Given the description of an element on the screen output the (x, y) to click on. 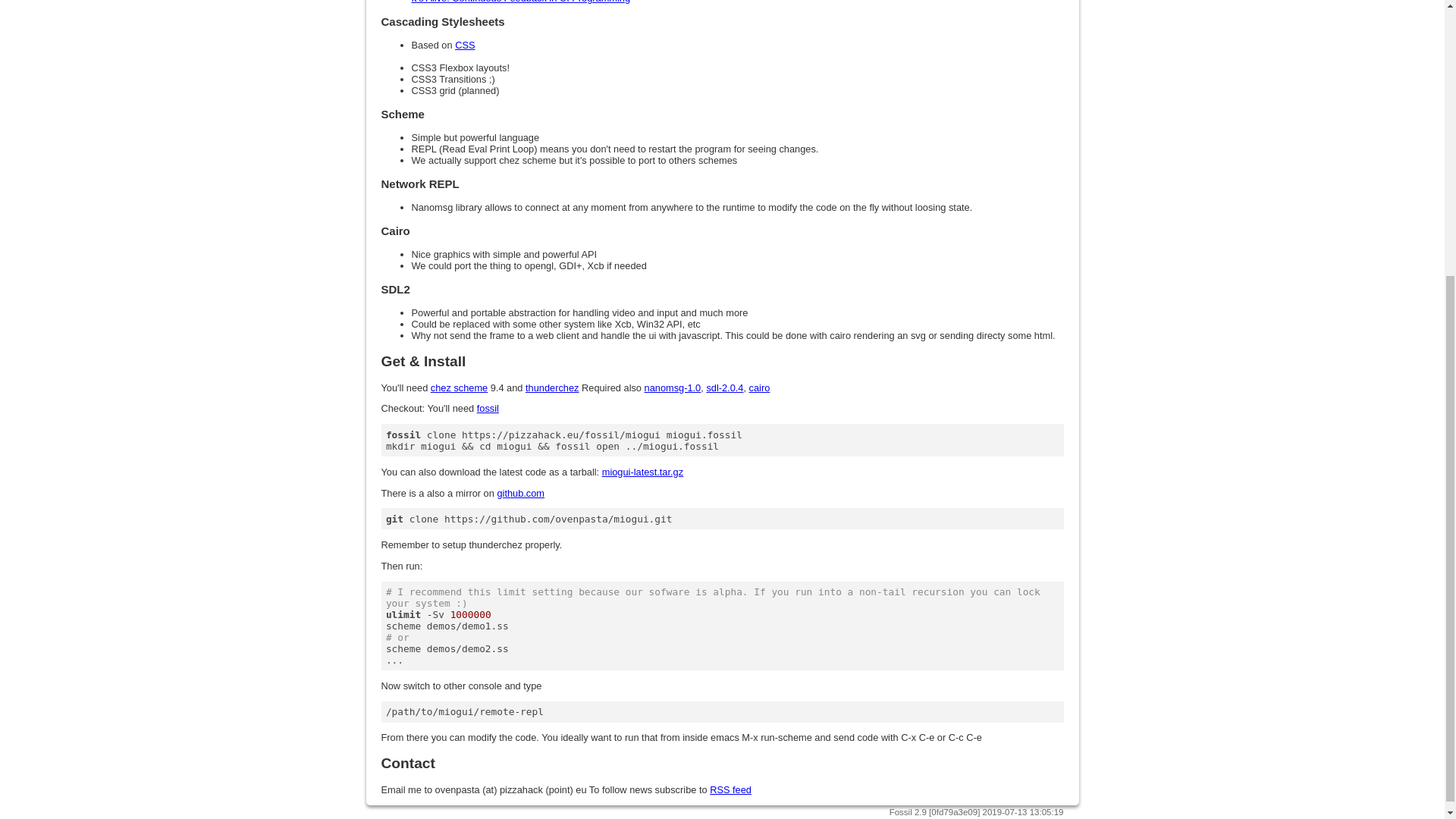
github.com (520, 492)
chez scheme (458, 387)
sdl-2.0.4 (724, 387)
miogui-latest.tar.gz (642, 471)
nanomsg-1.0 (673, 387)
fossil (488, 408)
RSS feed (730, 789)
CSS (464, 44)
thunderchez (551, 387)
cairo (759, 387)
